Given the description of an element on the screen output the (x, y) to click on. 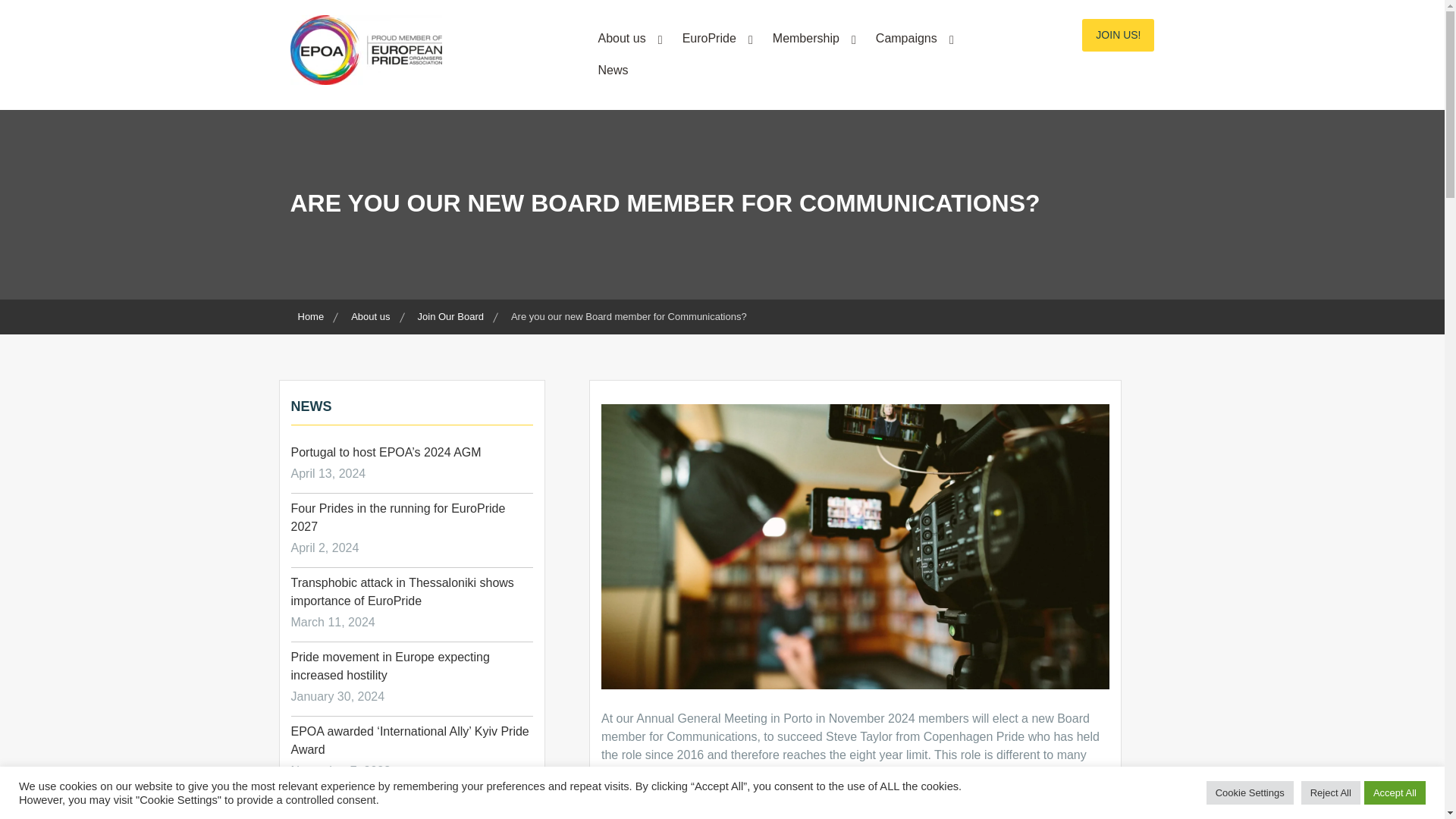
Membership (811, 38)
European Pride Organisers Association (424, 130)
EuroPride (714, 38)
Campaigns (911, 38)
About us (627, 38)
